Given the description of an element on the screen output the (x, y) to click on. 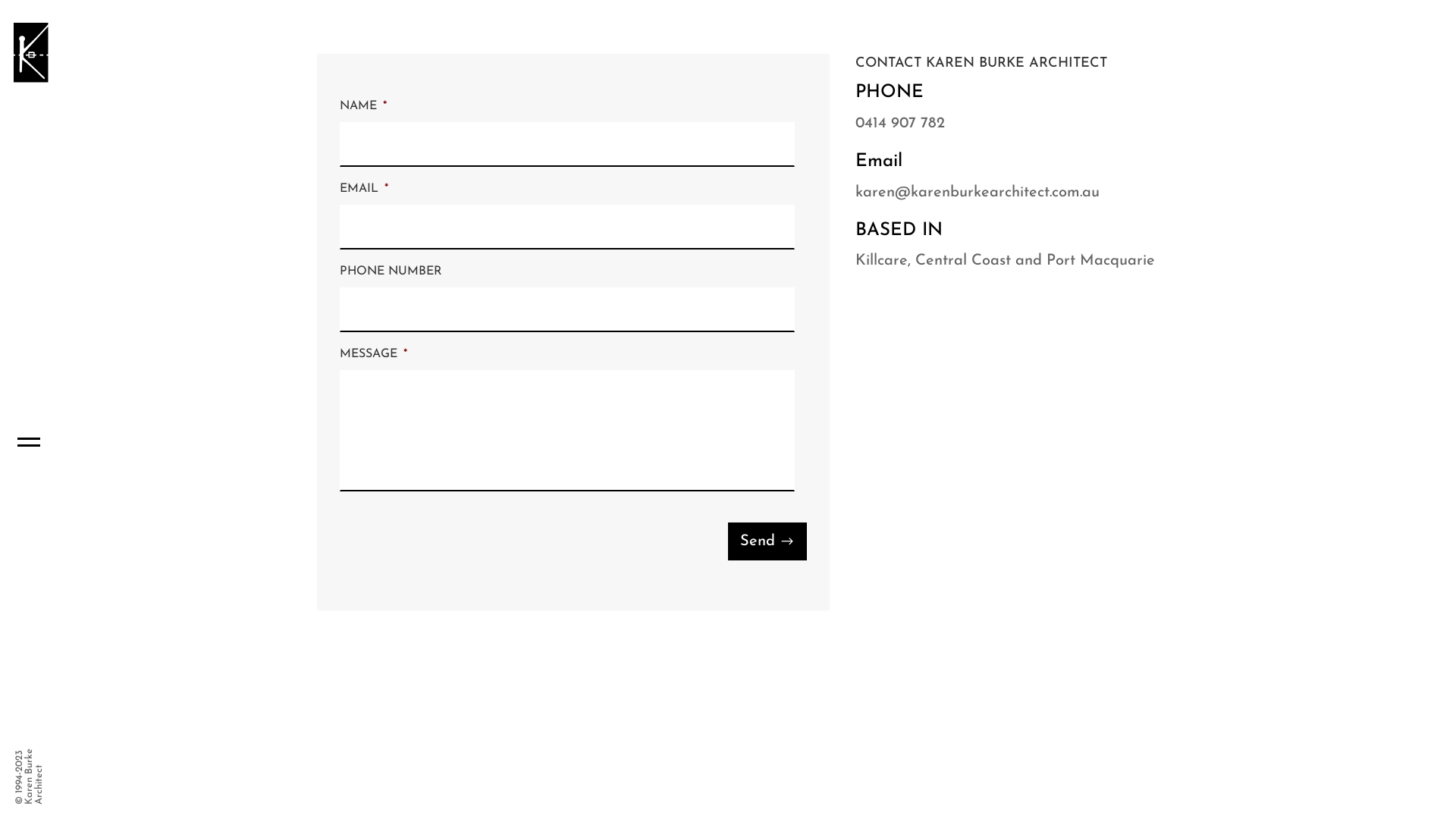
0414 907 782 Element type: text (899, 123)
karen@karenburkearchitect.com.au Element type: text (977, 192)
Send Element type: text (767, 541)
